Given the description of an element on the screen output the (x, y) to click on. 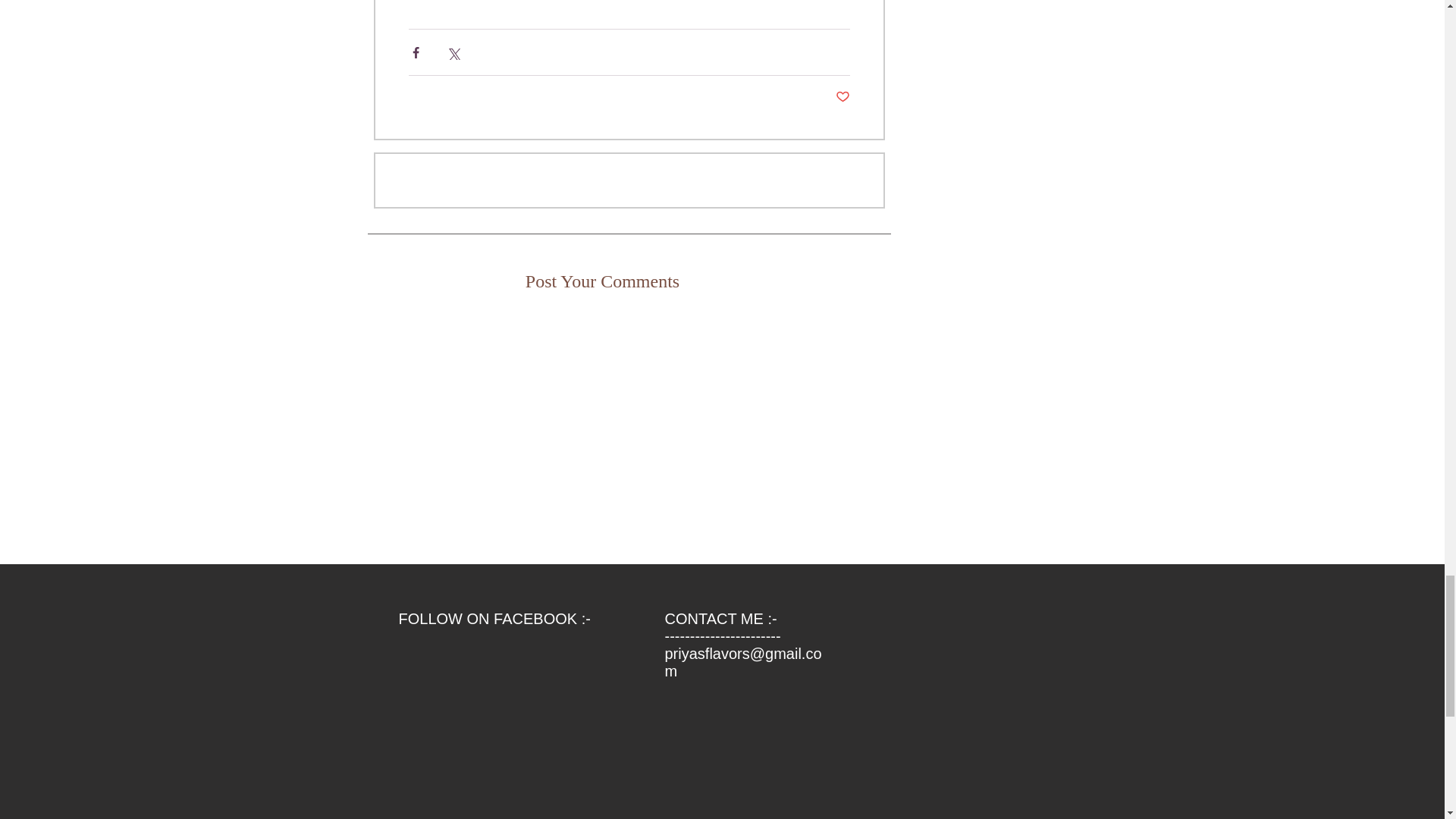
Post not marked as liked (842, 97)
